Given the description of an element on the screen output the (x, y) to click on. 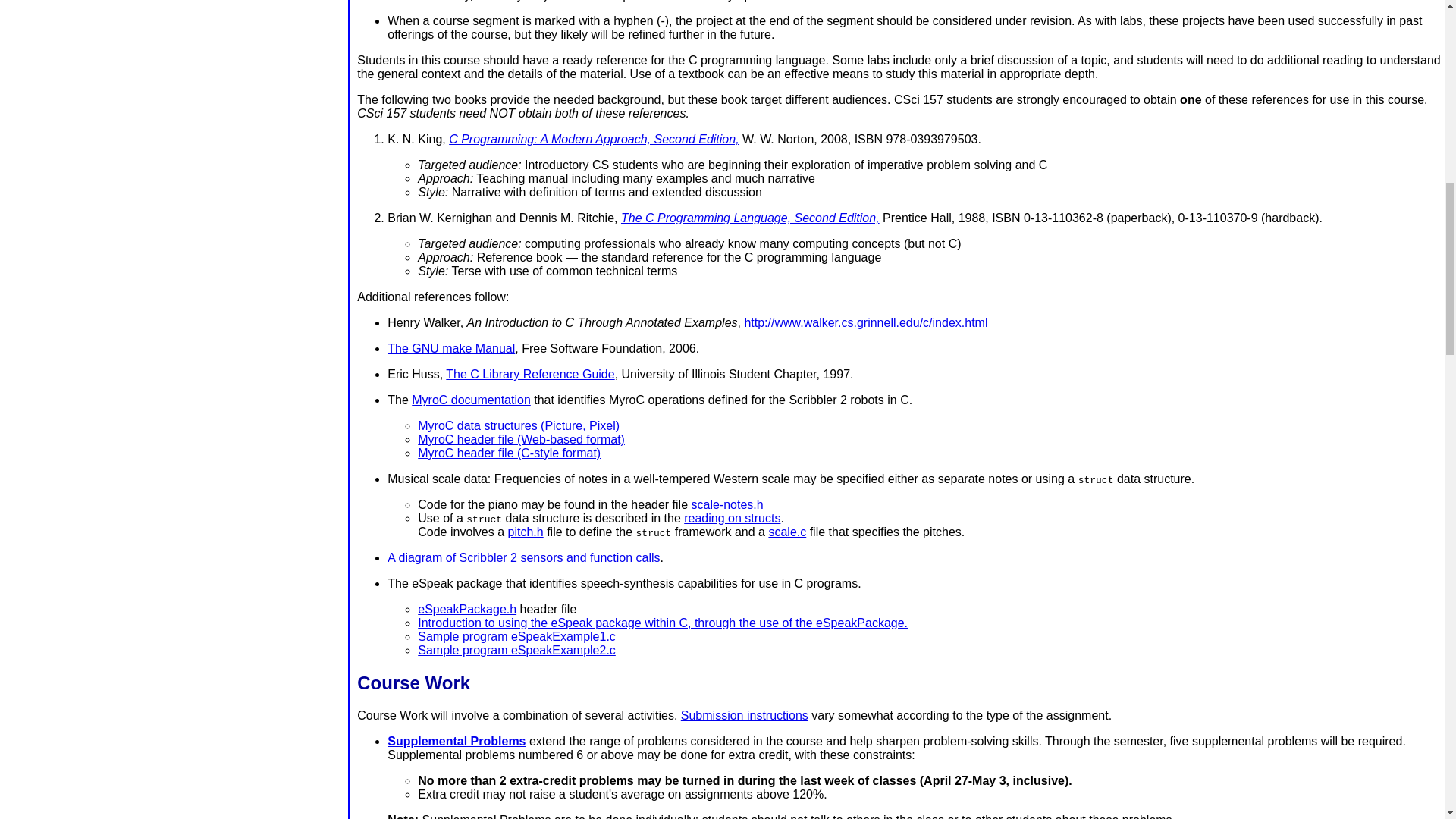
C Programming: A Modern Approach, Second Edition, (593, 138)
The C Programming Language, Second Edition, (750, 217)
MyroC documentation (471, 399)
The C Library Reference Guide (529, 373)
The GNU make Manual (451, 348)
